Given the description of an element on the screen output the (x, y) to click on. 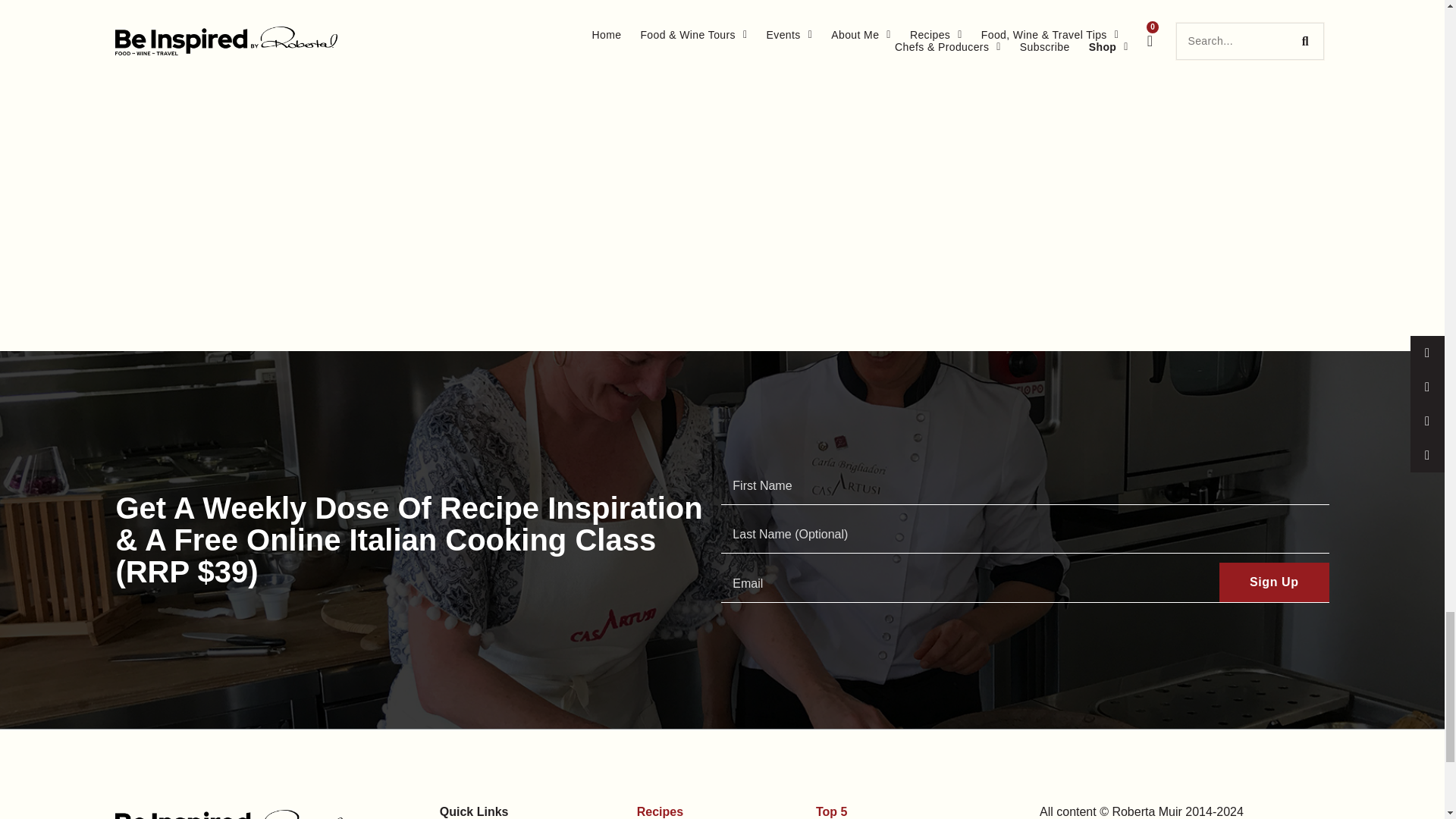
Sign up (1274, 582)
